Given the description of an element on the screen output the (x, y) to click on. 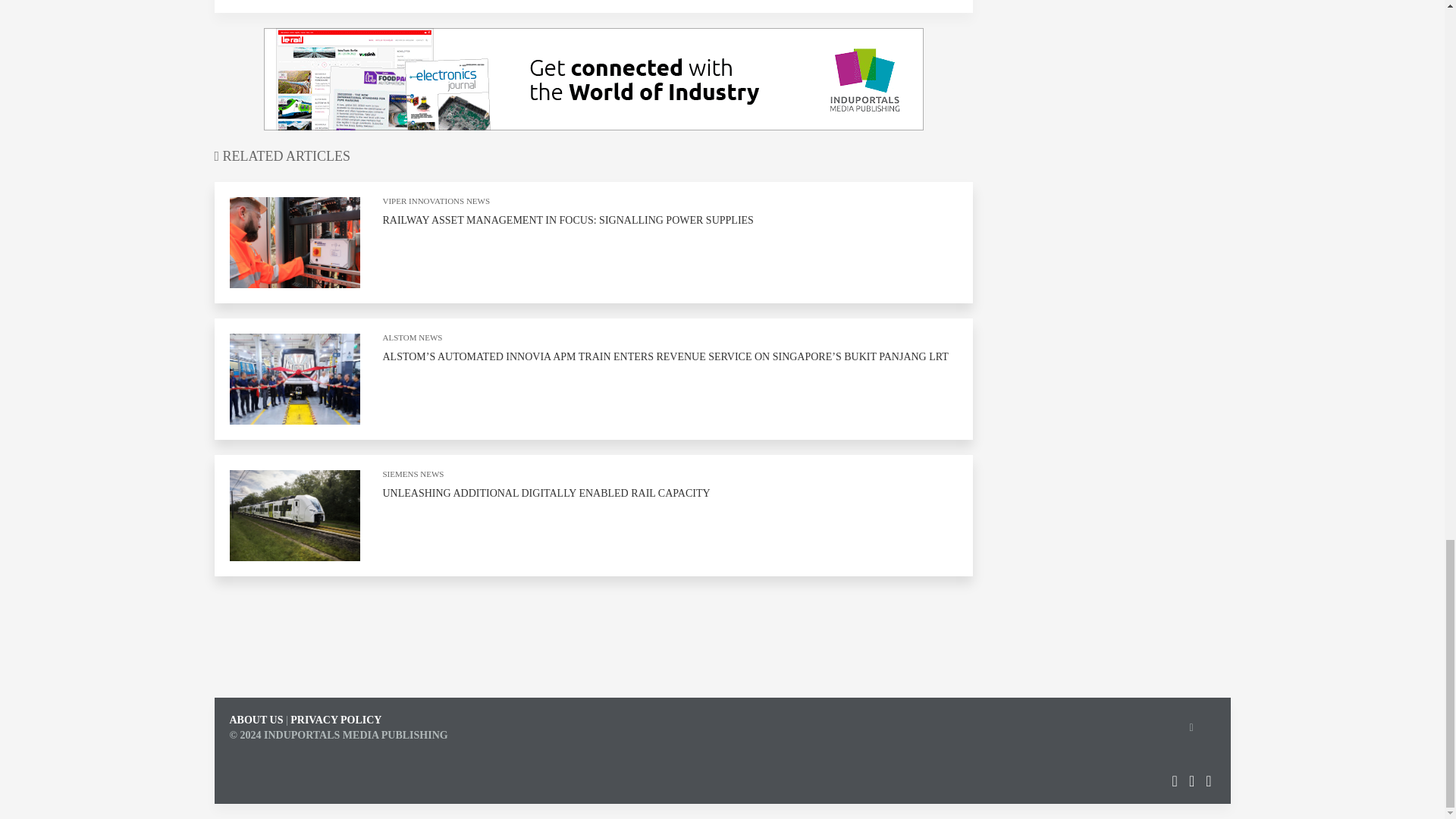
RAILWAY ASSET MANAGEMENT IN FOCUS: SIGNALLING POWER SUPPLIES (566, 220)
UNLEASHING ADDITIONAL DIGITALLY ENABLED RAIL CAPACITY (545, 492)
